Given the description of an element on the screen output the (x, y) to click on. 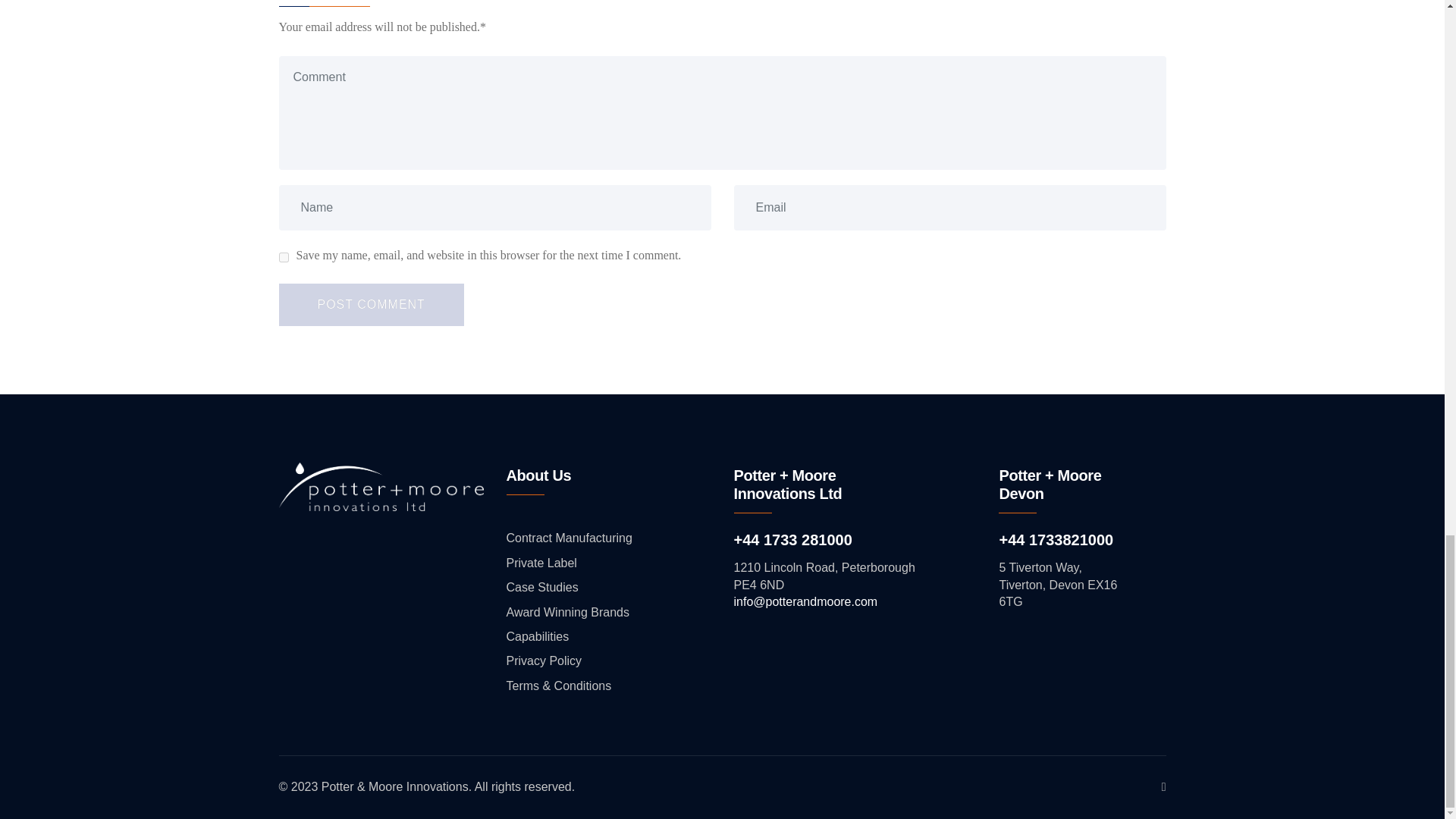
yes (283, 257)
